Given the description of an element on the screen output the (x, y) to click on. 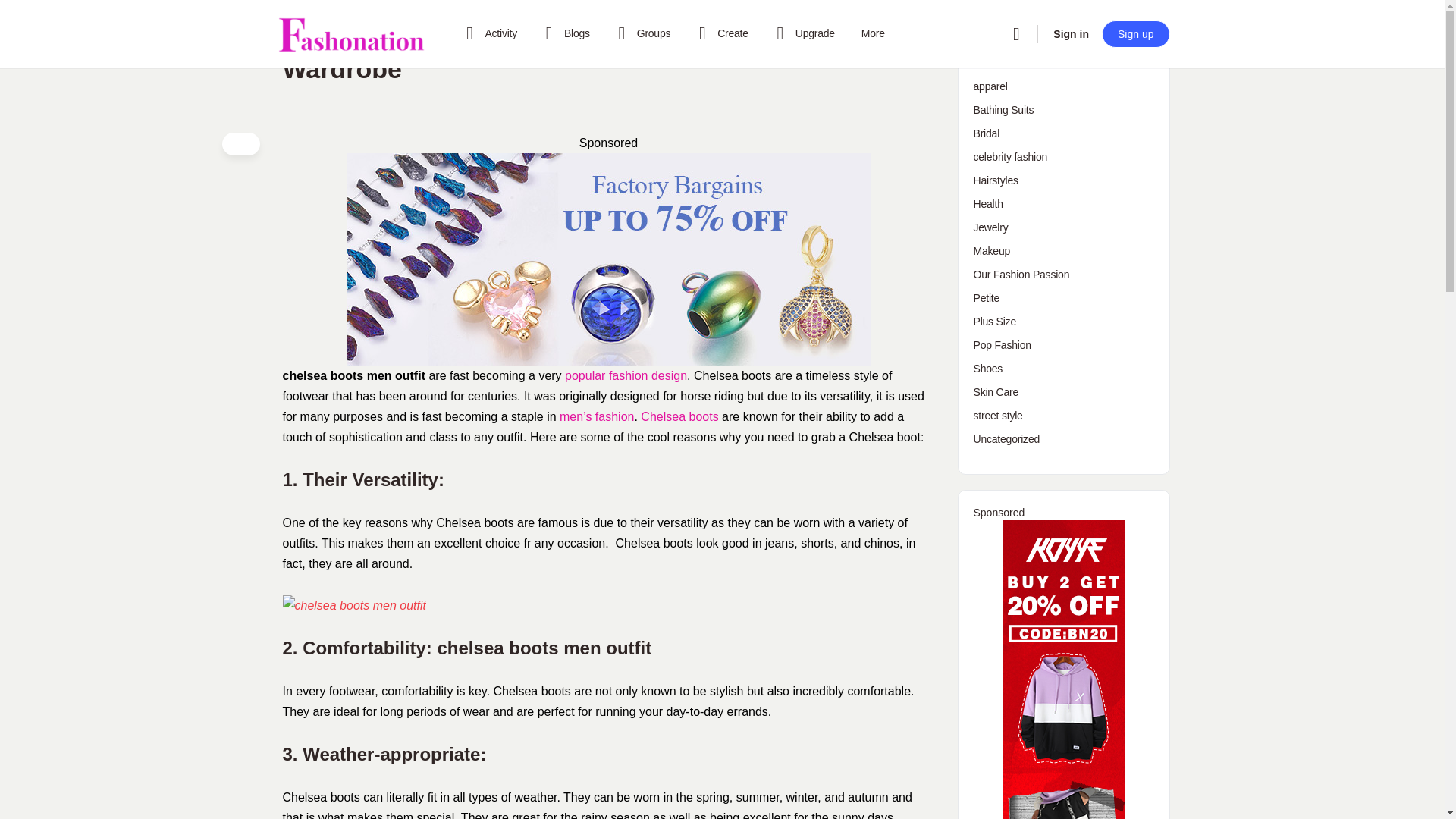
Blogs (564, 33)
Sign in (1070, 33)
Upgrade (802, 33)
Create (720, 33)
Sign up (1135, 33)
Groups (641, 33)
Activity (488, 33)
